Given the description of an element on the screen output the (x, y) to click on. 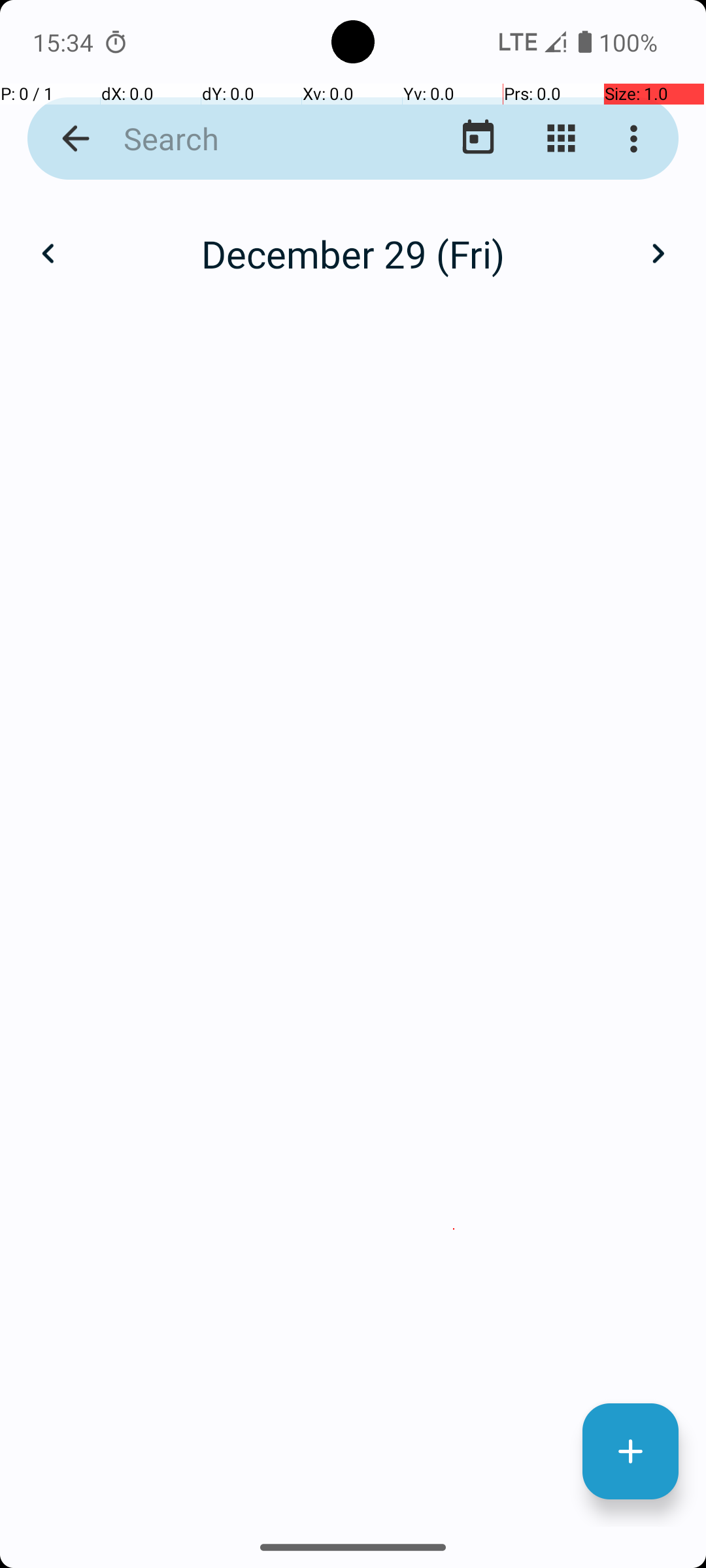
December Element type: android.widget.TextView (352, 239)
December 29 (Fri) Element type: android.widget.TextView (352, 253)
